Given the description of an element on the screen output the (x, y) to click on. 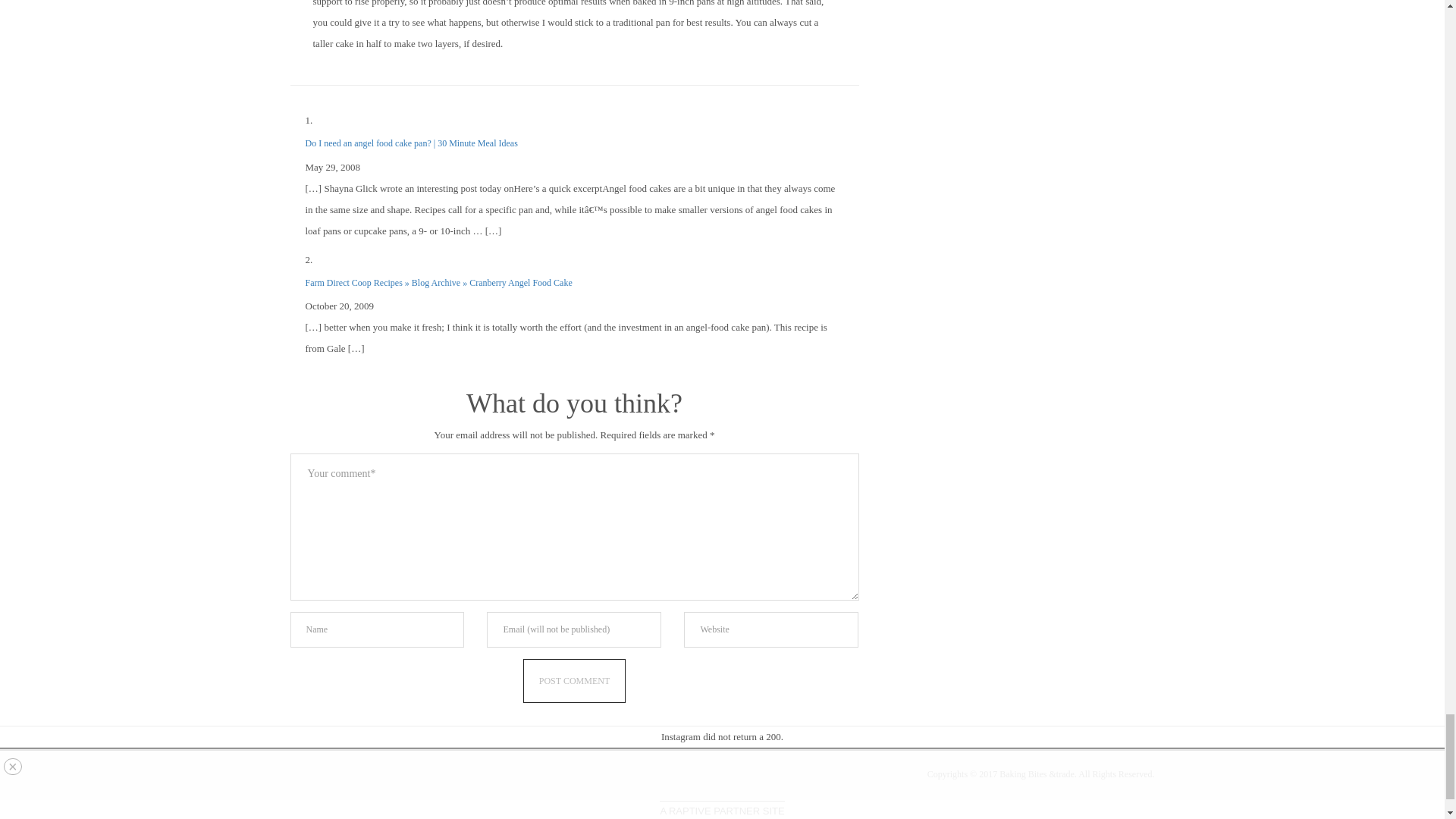
Post comment (574, 680)
